Given the description of an element on the screen output the (x, y) to click on. 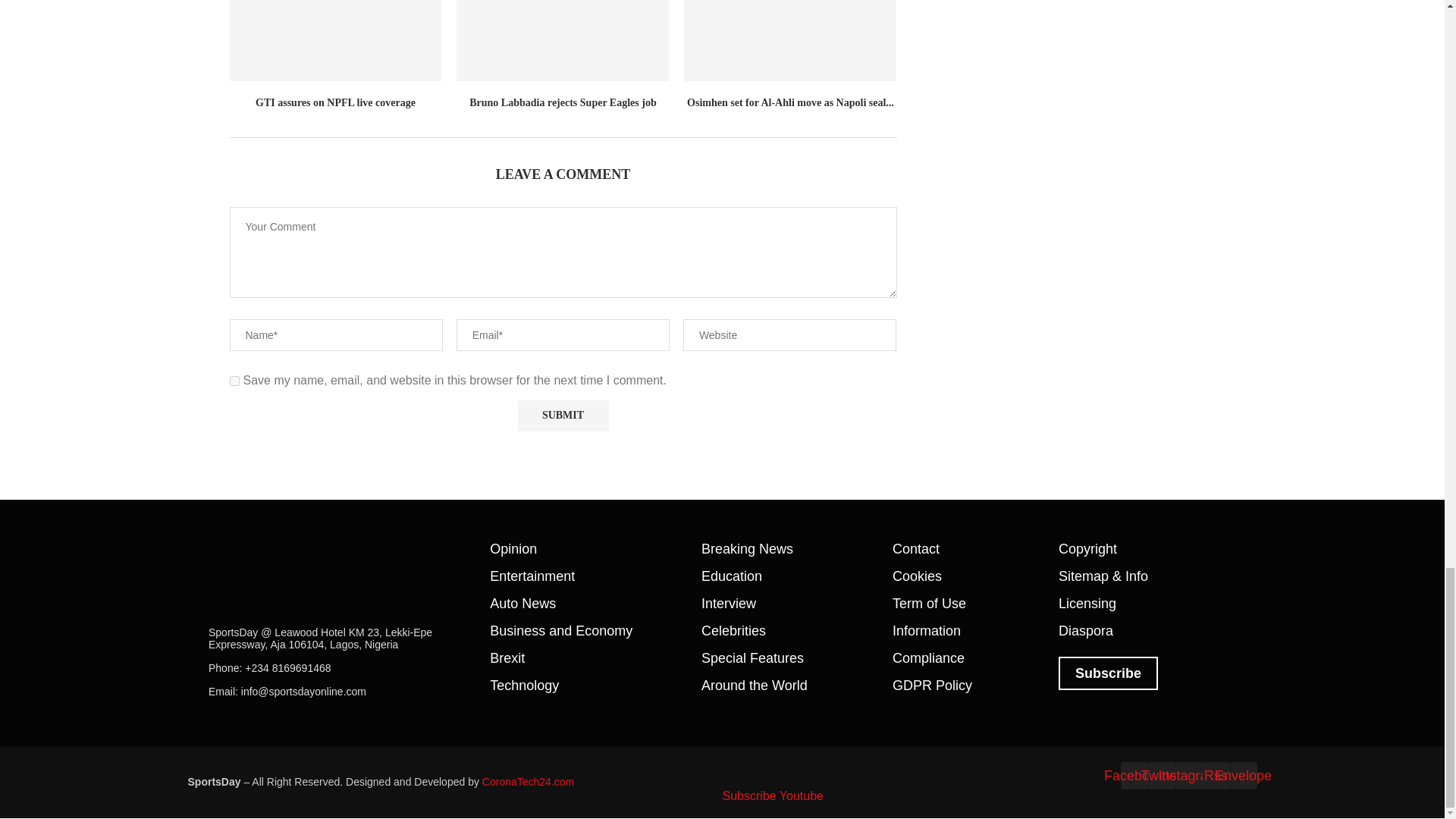
GTI assures on NPFL live coverage (334, 40)
Bruno Labbadia rejects Super Eagles job (562, 40)
yes (233, 380)
Submit (562, 415)
